Given the description of an element on the screen output the (x, y) to click on. 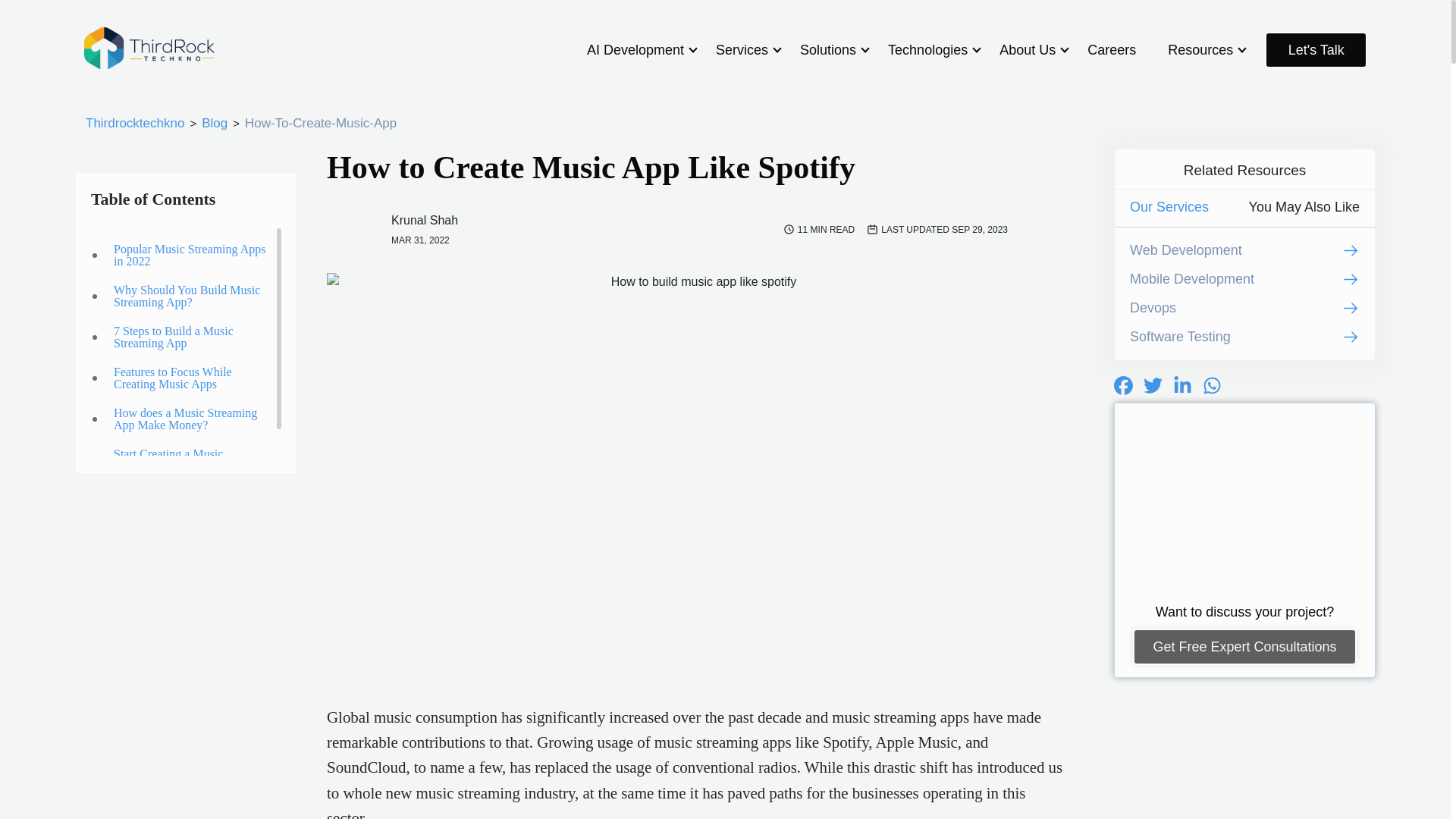
About Us (1026, 49)
Let's Talk (1316, 49)
Services (742, 49)
Solutions (827, 49)
AI Development (635, 49)
Resources (1200, 49)
Technologies (928, 49)
Careers (1111, 49)
Let's Talk (1316, 49)
